Given the description of an element on the screen output the (x, y) to click on. 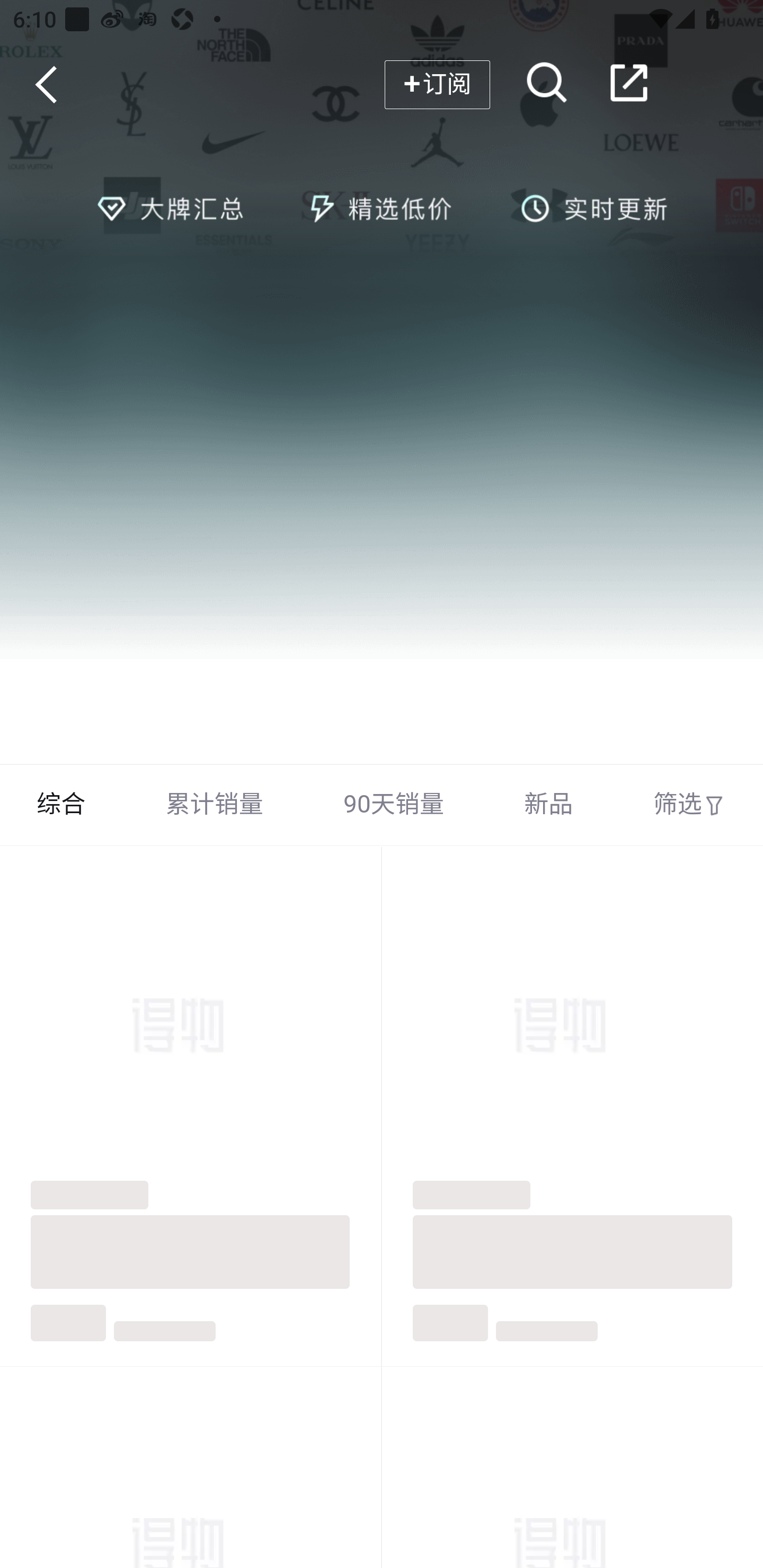
综合 (60, 805)
累计销量 (214, 805)
90天销量 (393, 805)
新品 (547, 805)
筛选 resize,w_750 (688, 805)
